Given the description of an element on the screen output the (x, y) to click on. 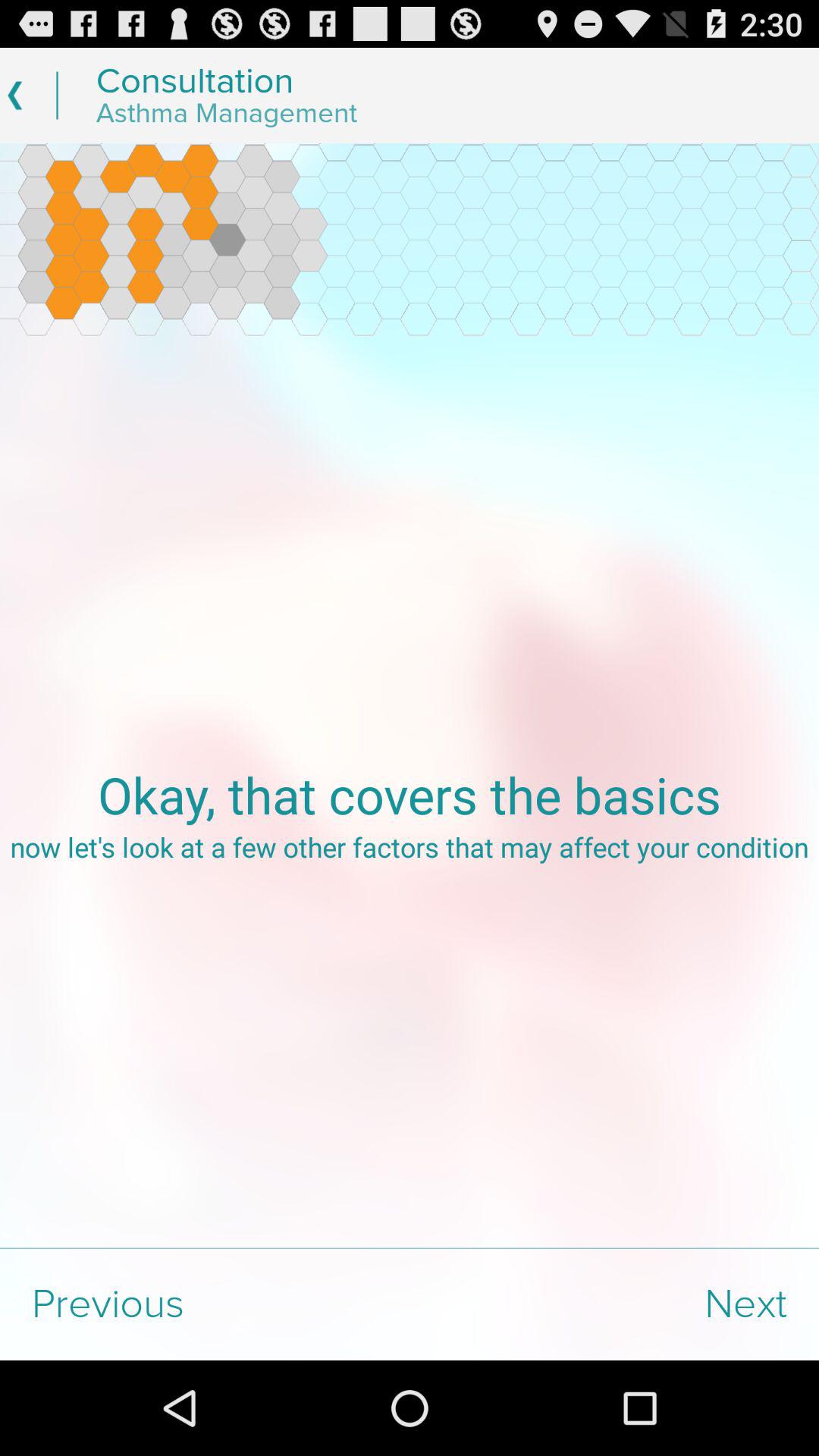
launch previous at the bottom left corner (204, 1304)
